Given the description of an element on the screen output the (x, y) to click on. 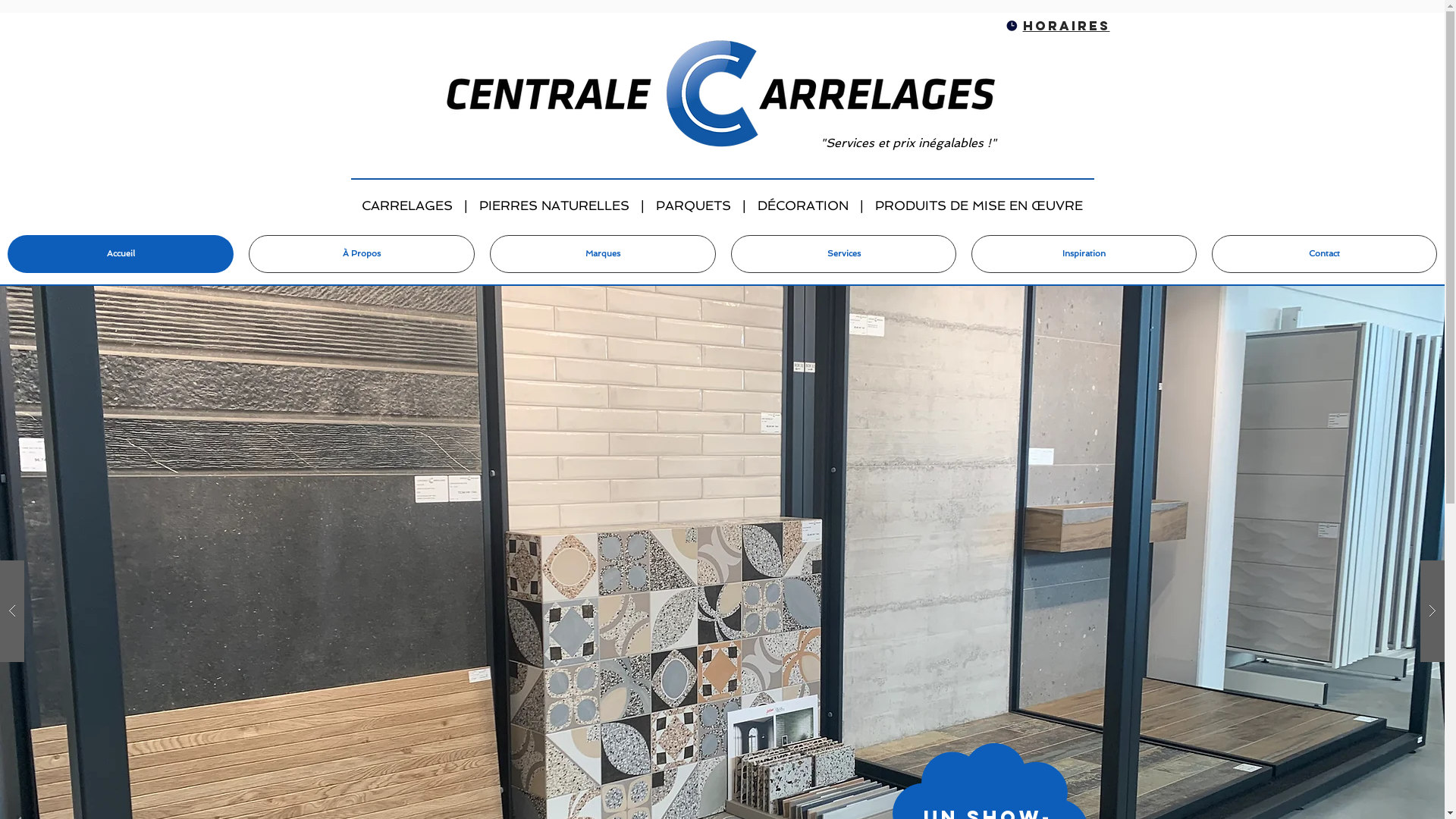
Services Element type: text (843, 254)
Accueil Element type: text (120, 254)
Contact Element type: text (1324, 254)
horaires Element type: text (1065, 25)
Inspiration Element type: text (1083, 254)
Marques Element type: text (602, 254)
